Given the description of an element on the screen output the (x, y) to click on. 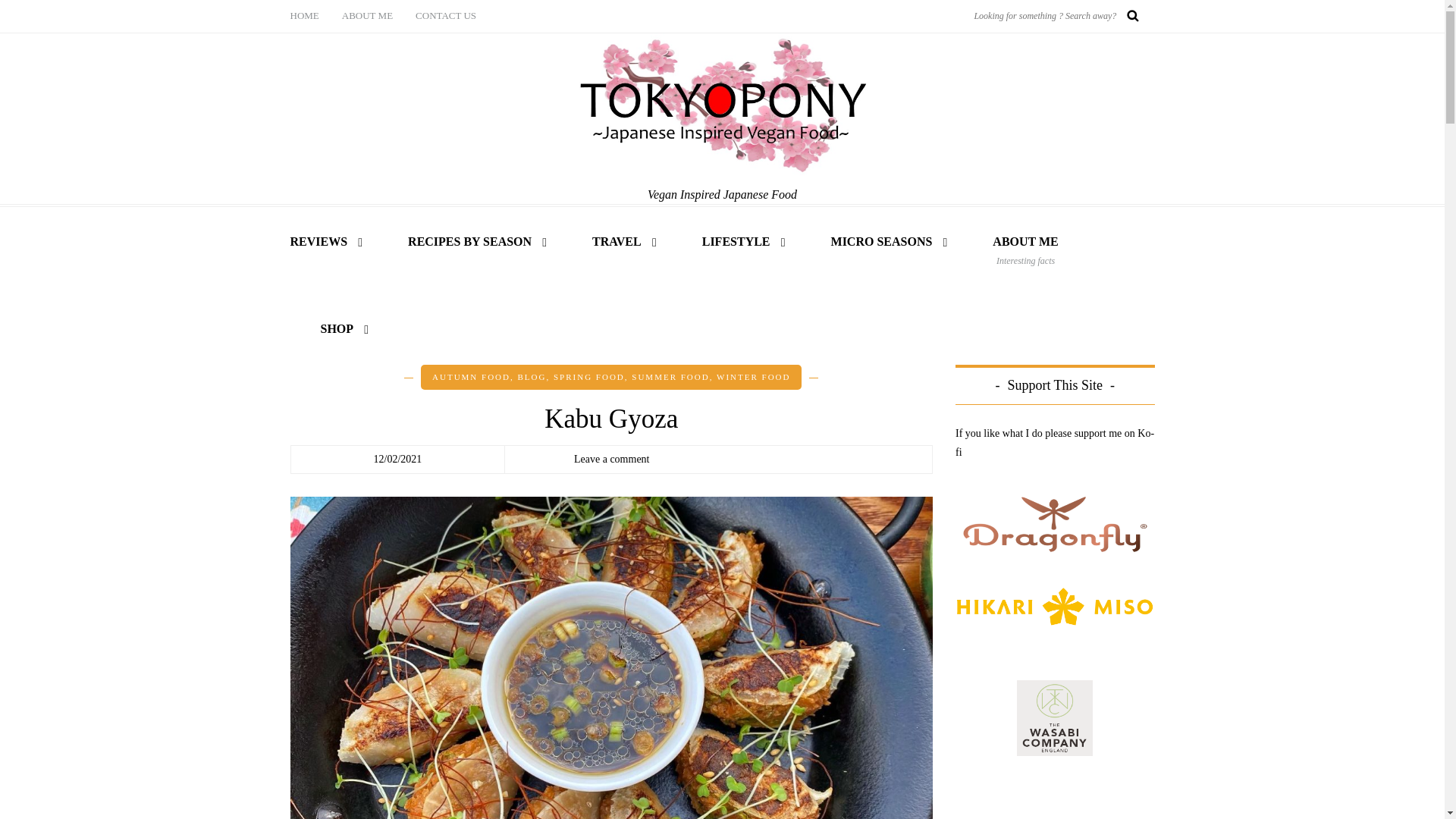
CONTACT US (445, 16)
TRAVEL (616, 242)
HOME (309, 16)
ABOUT ME (367, 16)
RECIPES BY SEASON (469, 242)
REVIEWS (333, 242)
